Given the description of an element on the screen output the (x, y) to click on. 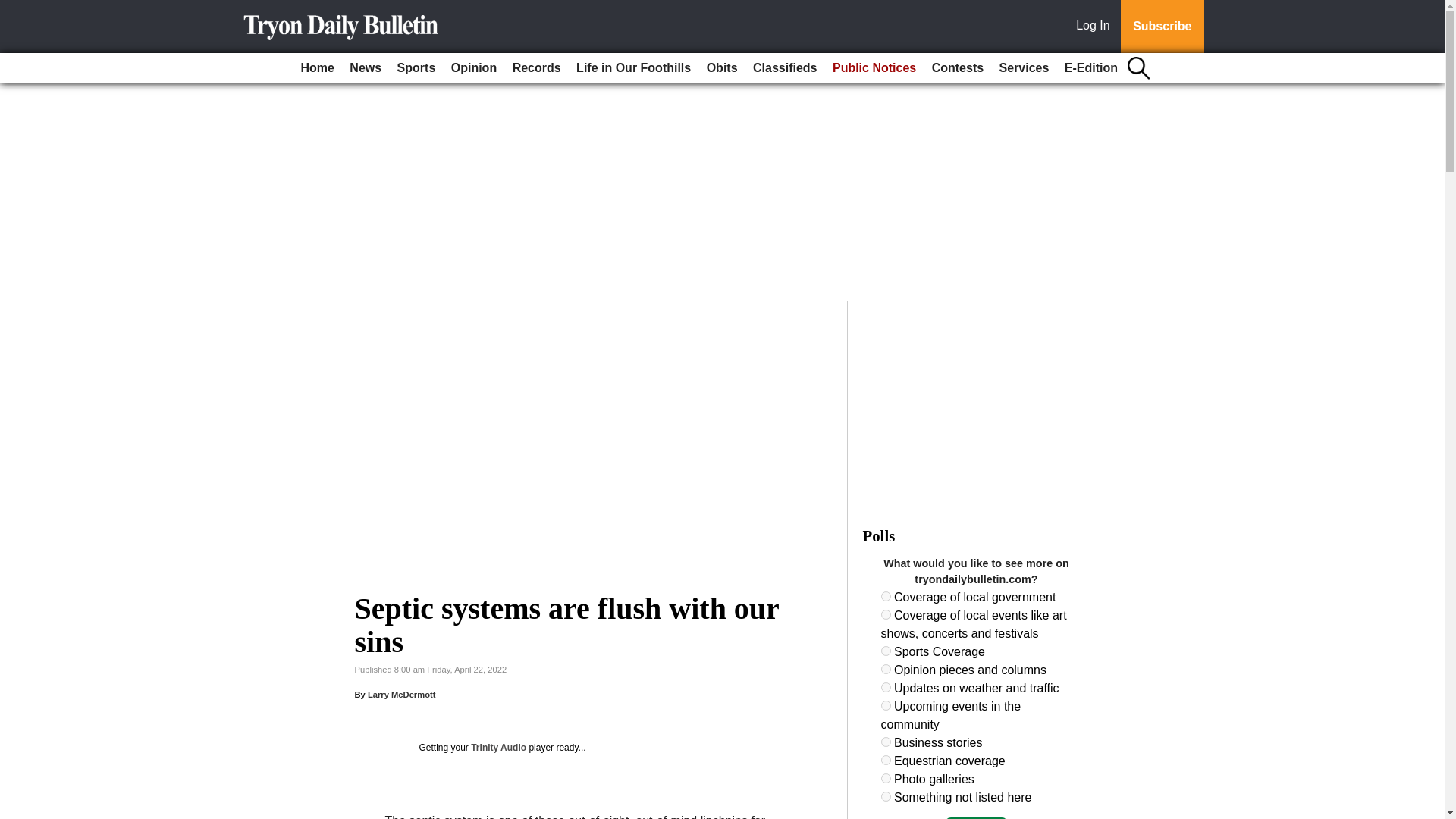
1566 (885, 796)
E-Edition (1091, 68)
1564 (885, 759)
1565 (885, 777)
1562 (885, 705)
Home (316, 68)
Records (536, 68)
1563 (885, 741)
Classifieds (784, 68)
News (365, 68)
Larry McDermott (401, 694)
Sports (416, 68)
Contests (958, 68)
Life in Our Foothills (633, 68)
   Vote    (975, 818)
